Given the description of an element on the screen output the (x, y) to click on. 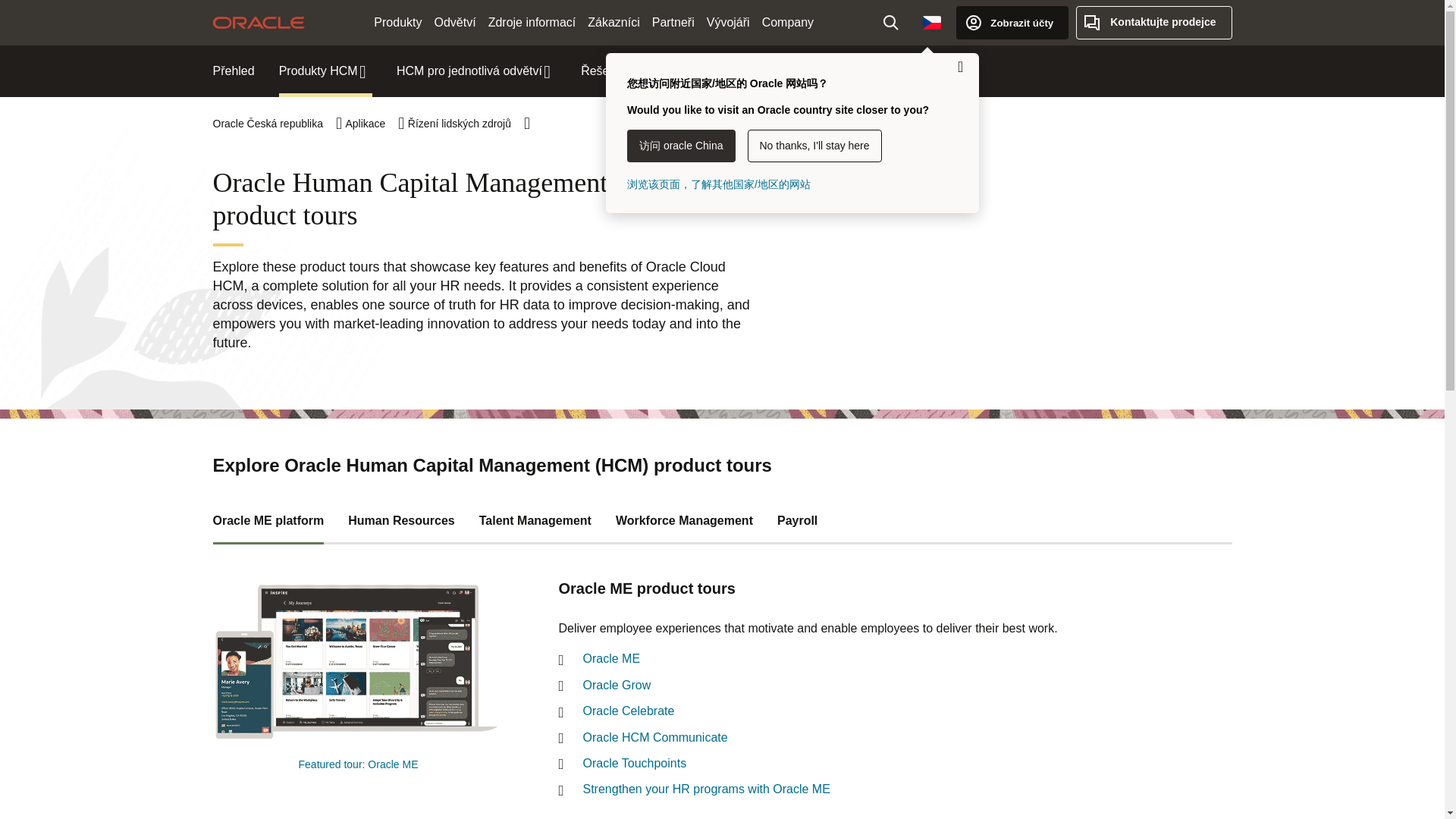
No thanks, I'll stay here (815, 145)
Kontaktujte prodejce (1153, 22)
Kontaktujte prodejce (1153, 22)
Country (932, 22)
Company (787, 22)
Close (960, 67)
Produkty (398, 22)
